Given the description of an element on the screen output the (x, y) to click on. 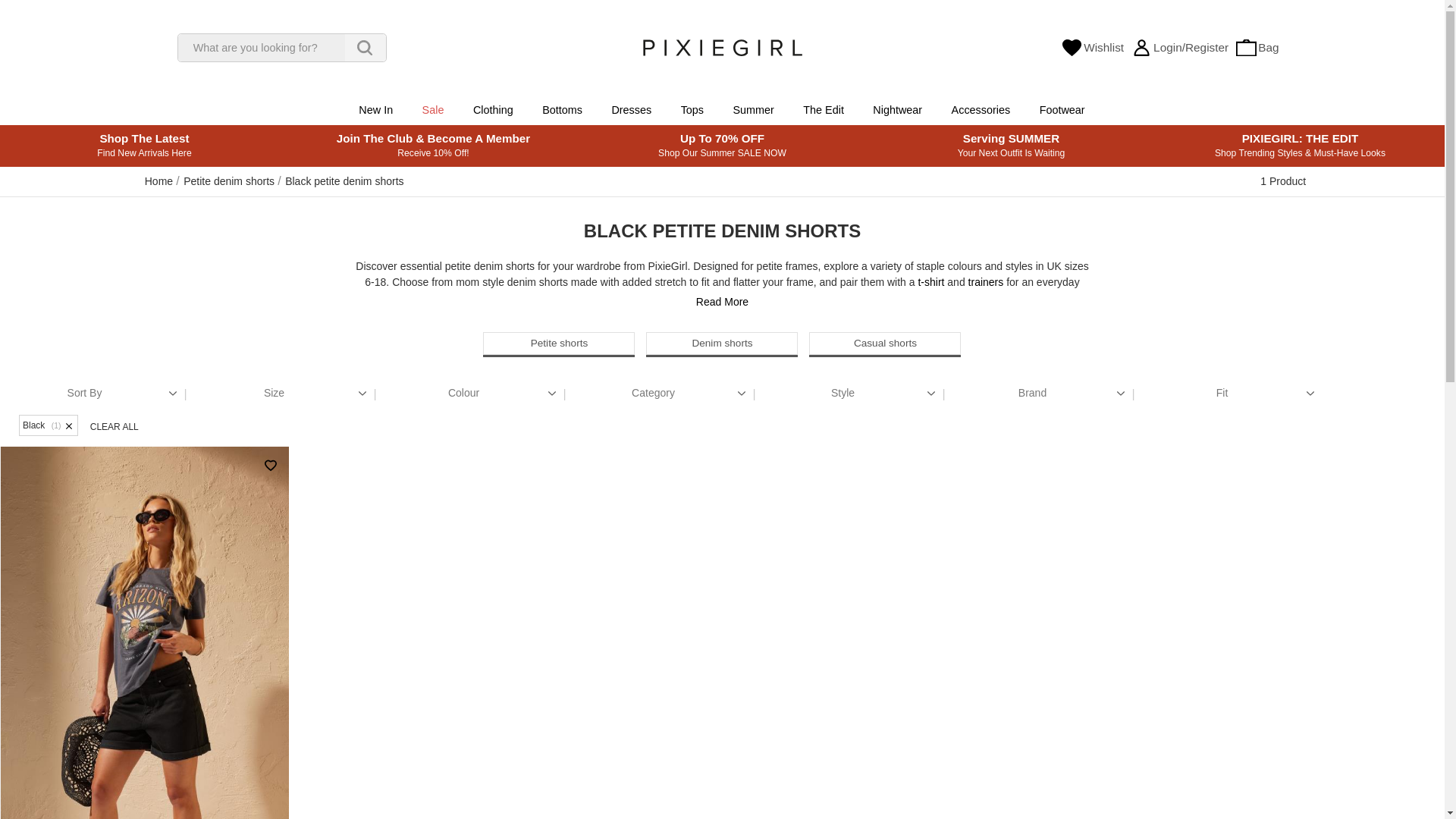
Search (364, 47)
View your Basket (1256, 47)
Bag (1256, 47)
New In (376, 110)
Wishlist (1092, 47)
View your Wishlist (1092, 47)
